Given the description of an element on the screen output the (x, y) to click on. 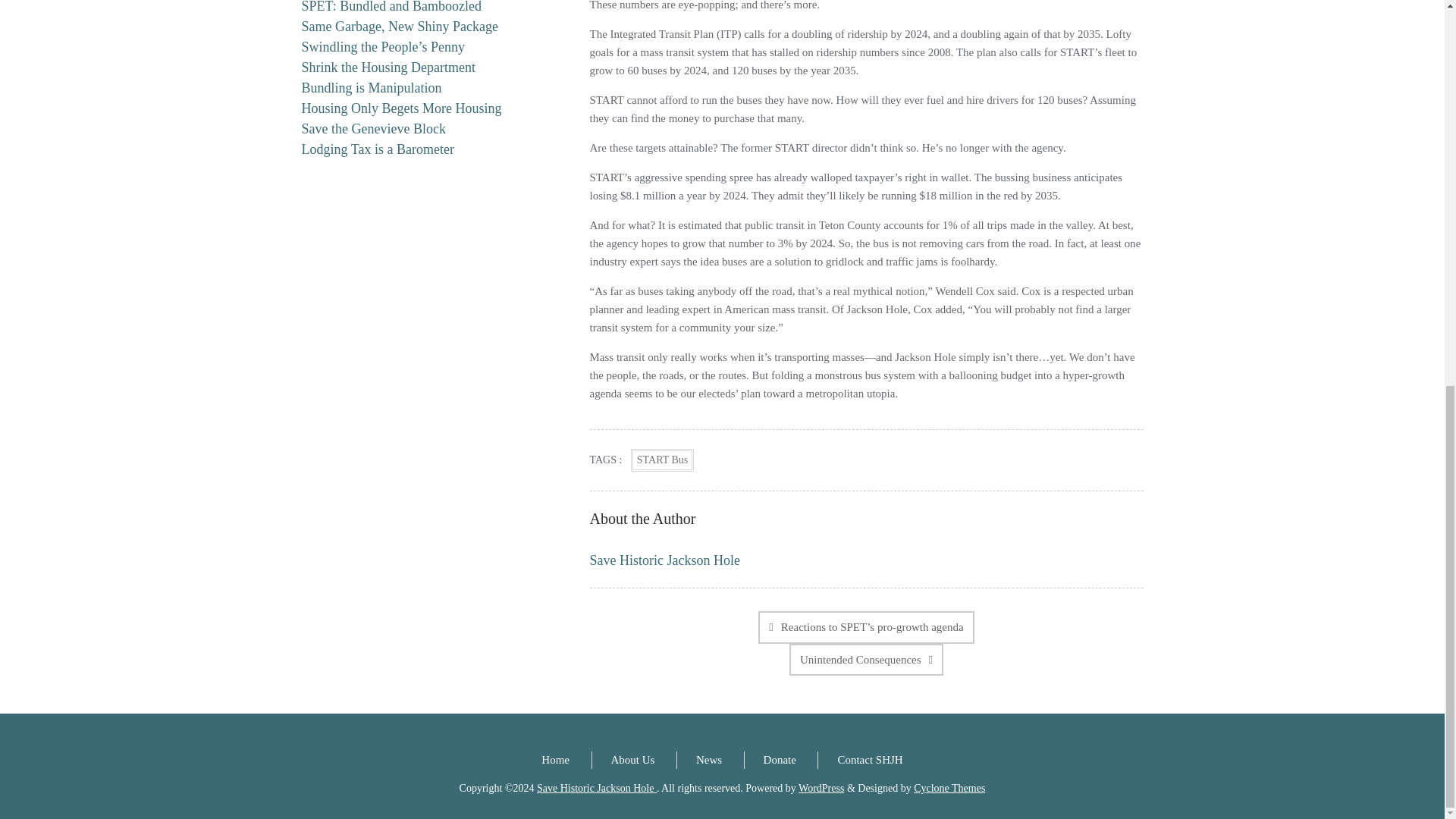
Donate (779, 759)
News (708, 759)
Lodging Tax is a Barometer (377, 149)
Contact SHJH (869, 759)
Housing Only Begets More Housing (401, 108)
About Us (633, 759)
Save the Genevieve Block (373, 128)
Save Historic Jackson Hole (596, 787)
Shrink the Housing Department (388, 67)
START Bus (662, 459)
Save Historic Jackson Hole (664, 560)
Home (555, 759)
Same Garbage, New Shiny Package (399, 26)
SPET: Bundled and Bamboozled (391, 6)
Unintended Consequences (866, 659)
